Given the description of an element on the screen output the (x, y) to click on. 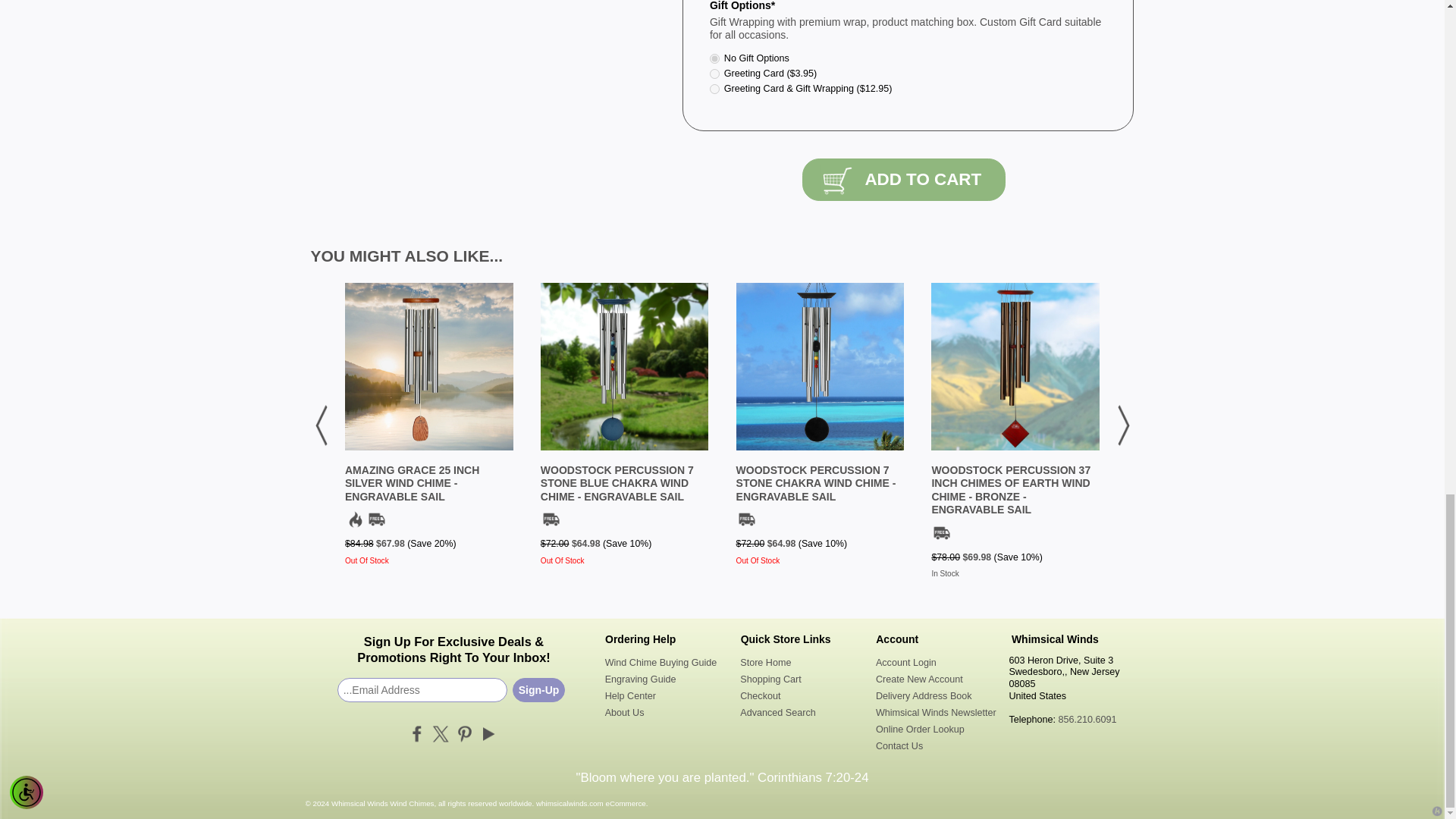
AMAZING GRACE 25 INCH SILVER WIND CHIME - ENGRAVABLE SAIL (412, 483)
Add to Cart (904, 179)
Amazing Grace 25 Inch Silver Wind Chime - Engravable Sail (412, 483)
Amazing Grace 25 Inch Silver Wind Chime - Engravable Sail (429, 366)
Sign-Up (539, 689)
Add to Cart (904, 179)
wrap-855f89da2fba349db27ea5333c7d7232 (714, 73)
wrap-cad7ab47f8ed5ae2b9546ce715b1f21f (714, 58)
